Given the description of an element on the screen output the (x, y) to click on. 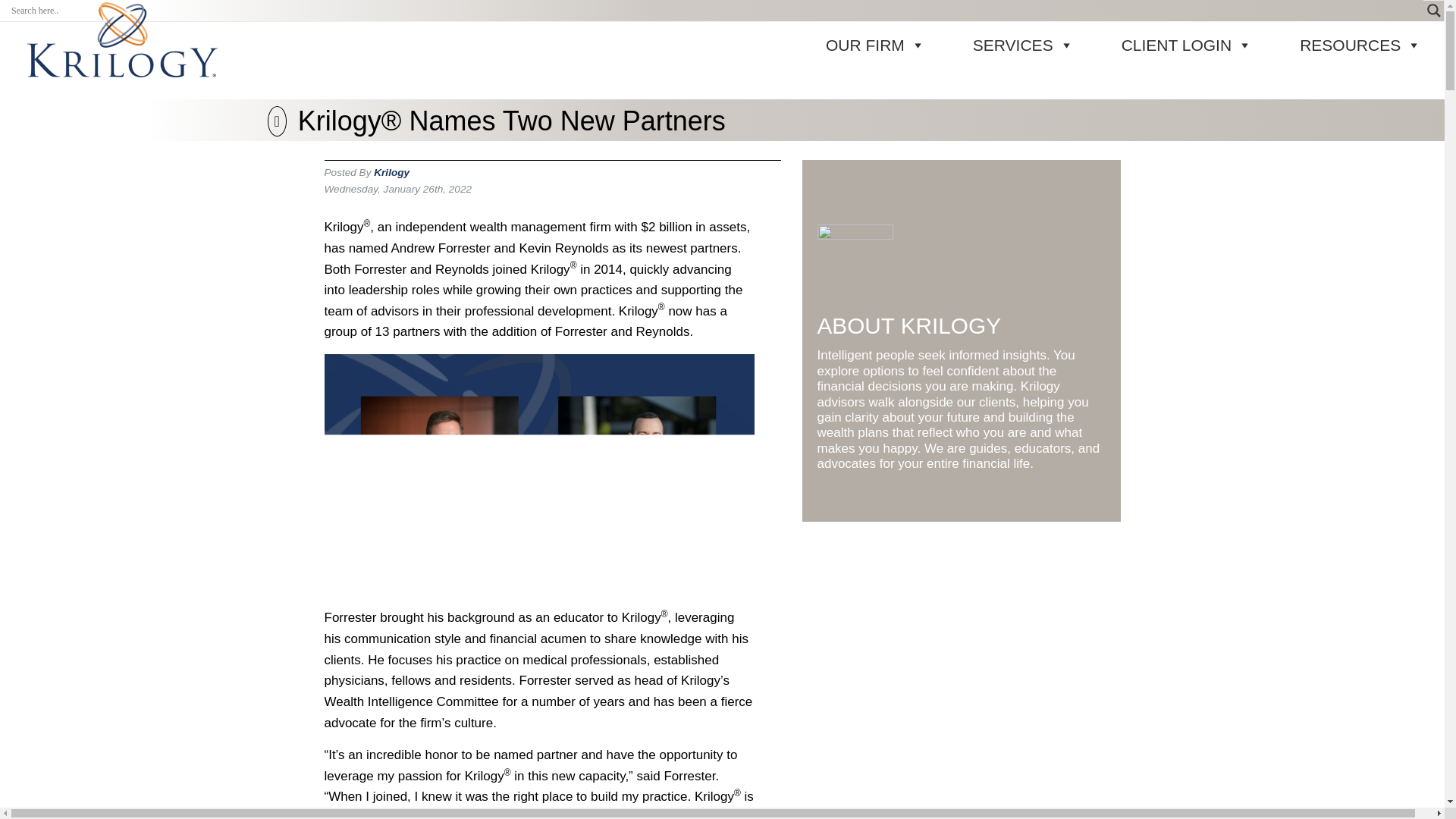
RESOURCES (1336, 44)
SERVICES (999, 44)
CLIENT LOGIN (1163, 44)
OUR FIRM (850, 44)
Krilogy (391, 172)
